Given the description of an element on the screen output the (x, y) to click on. 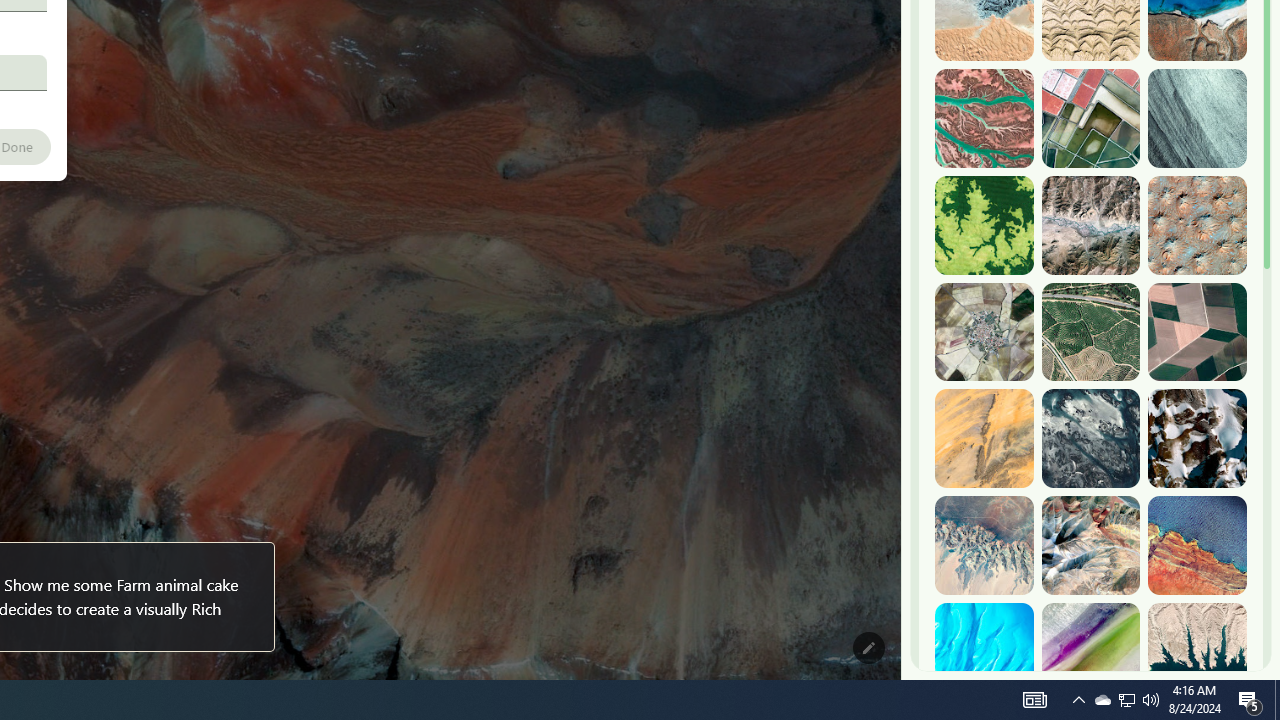
Pozoantiguo, Spain (984, 332)
Qesm Al Wahat Ad Dakhlah, Egypt (984, 545)
Ngari, China (1090, 545)
Granville, France (1090, 438)
Atar, Mauritania (984, 438)
Dekese, DR Congo (984, 225)
Rikaze, China (1090, 225)
Antarctica (1197, 438)
Libya (1197, 545)
Iceland (1197, 119)
South Eleuthera, The Bahamas (984, 651)
Aigues-Mortes, France (1090, 119)
Utrera, Spain (1197, 332)
